Given the description of an element on the screen output the (x, y) to click on. 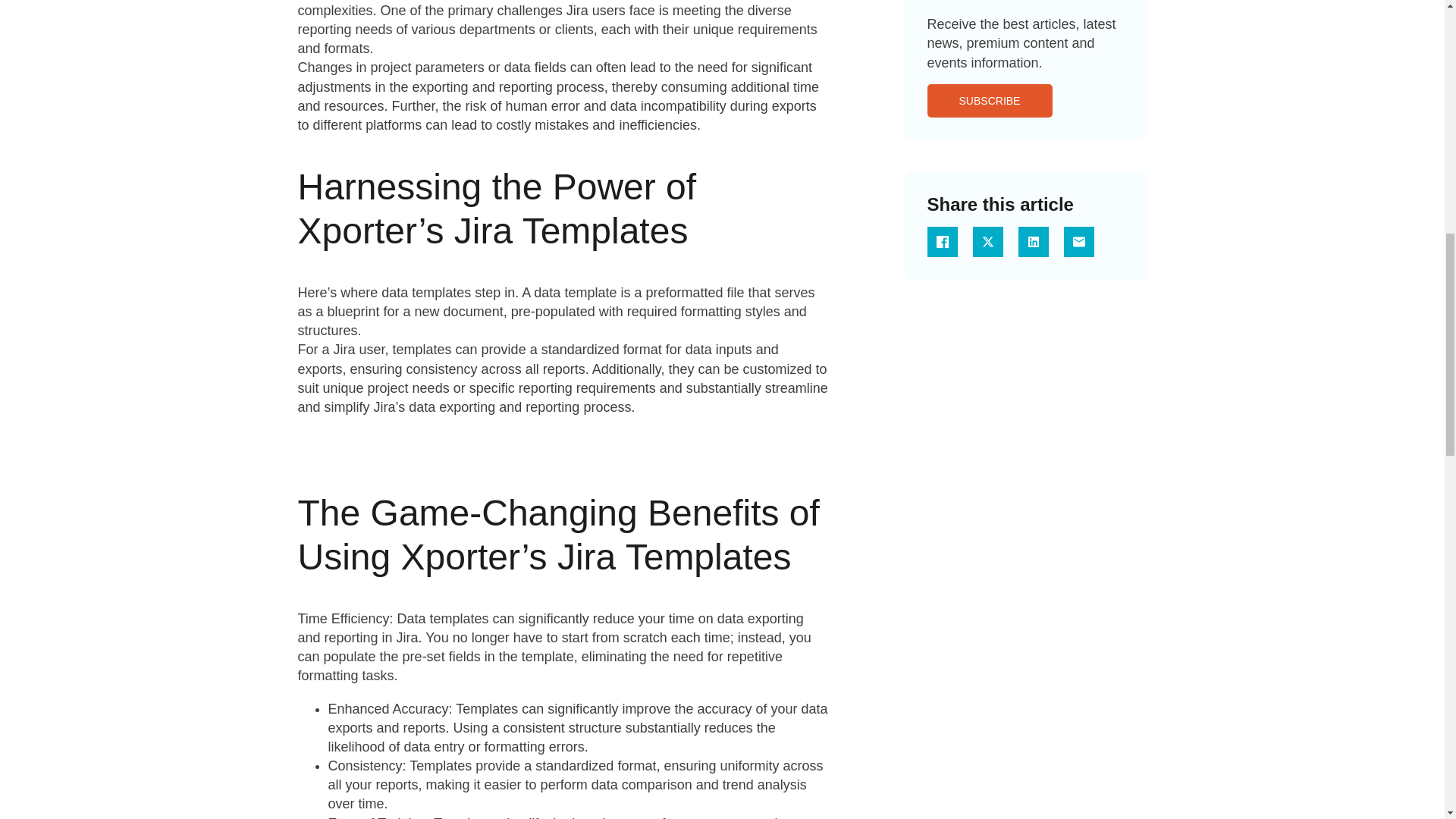
SUBSCRIBE (988, 100)
